Given the description of an element on the screen output the (x, y) to click on. 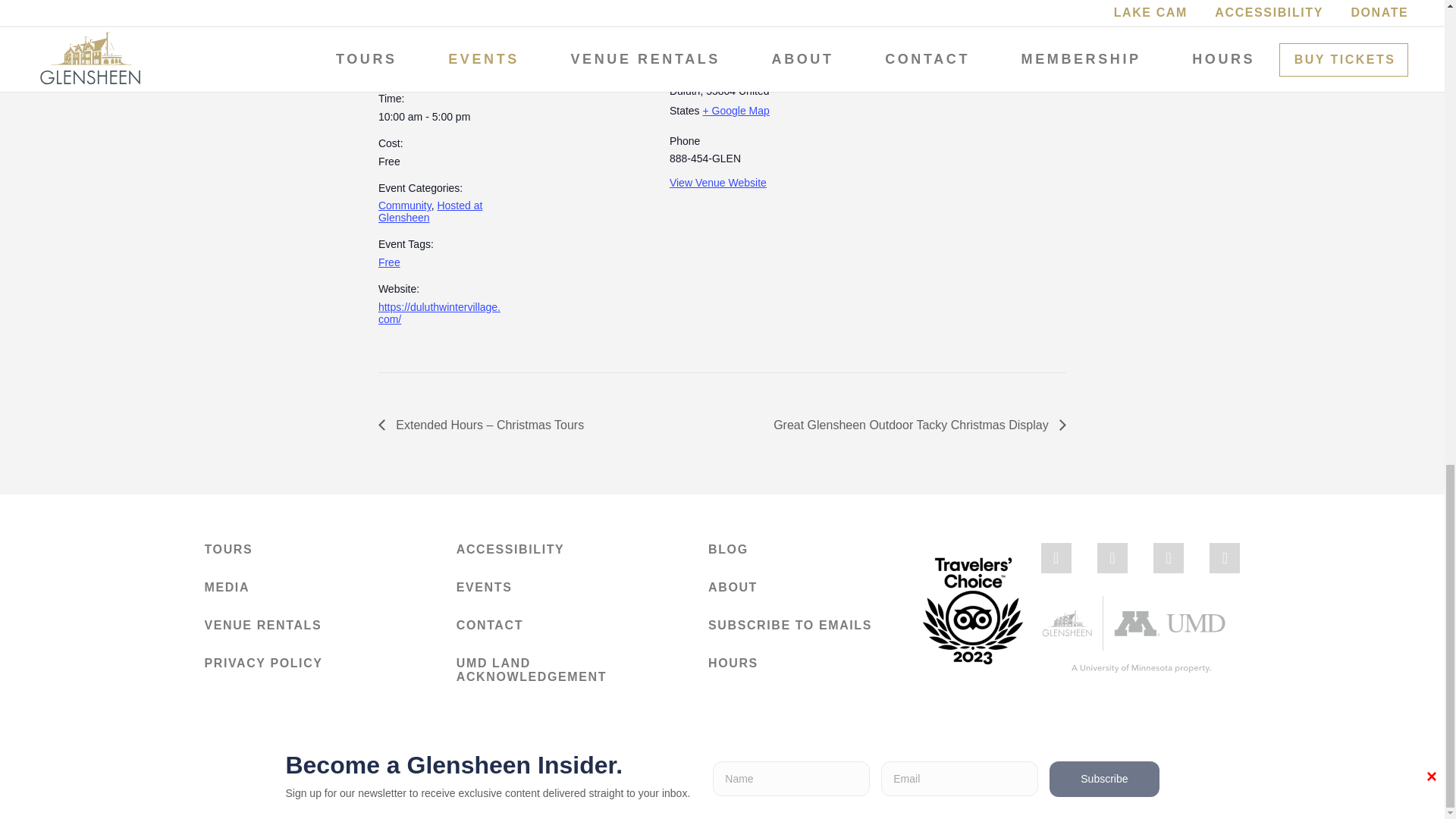
Follow Glensheen on Facebook (1056, 557)
Follow Glensheen on YouTube (1224, 557)
2018-12-01 (421, 72)
2018-12-01 (441, 116)
Follow Glensheen on Twitter (1168, 557)
Follow Glensheen on Instagram (1111, 557)
Click to view a Google Map (734, 110)
